Given the description of an element on the screen output the (x, y) to click on. 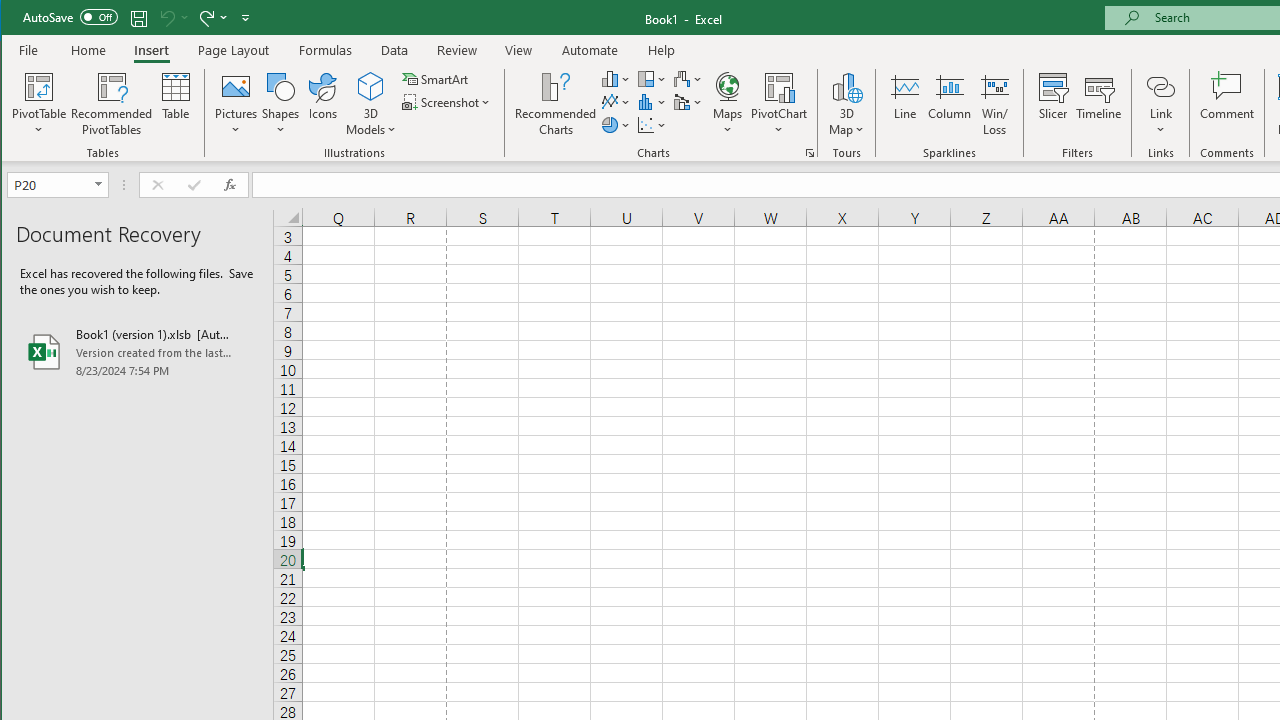
Column (949, 104)
Slicer... (1052, 104)
Table (175, 104)
Screenshot (447, 101)
3D Map (846, 86)
Win/Loss (995, 104)
Insert Waterfall, Funnel, Stock, Surface, or Radar Chart (688, 78)
Insert Statistic Chart (652, 101)
Insert Combo Chart (688, 101)
Comment (1227, 104)
